Given the description of an element on the screen output the (x, y) to click on. 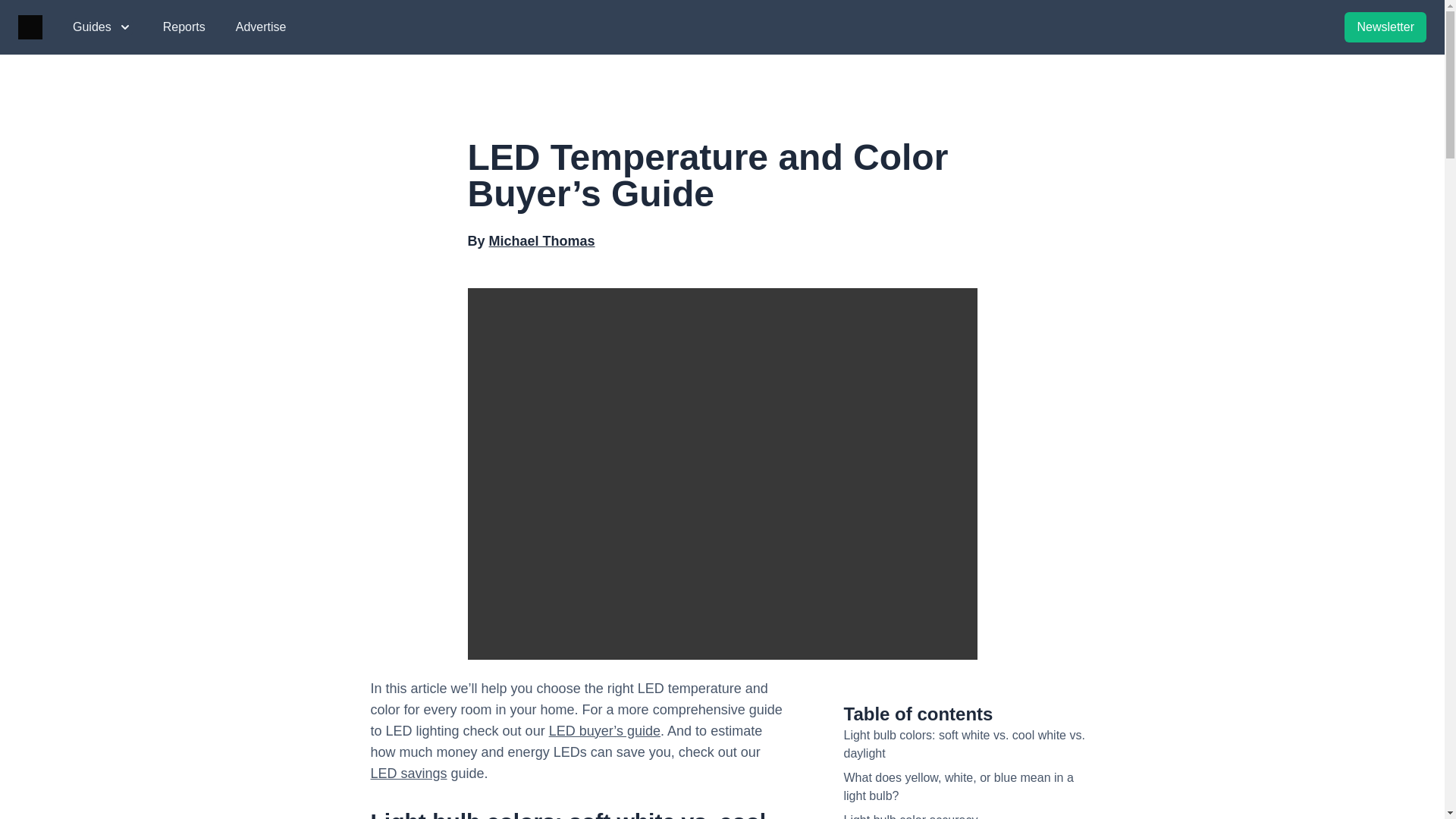
Newsletter (1384, 27)
Light bulb colors: soft white vs. cool white vs. daylight (963, 744)
Light bulb color accuracy (909, 816)
What does yellow, white, or blue mean in a light bulb? (958, 786)
Guides (102, 27)
Advertise (260, 27)
Michael Thomas (542, 240)
LED savings (407, 773)
Reports (184, 27)
Carbon Switch (29, 27)
